Given the description of an element on the screen output the (x, y) to click on. 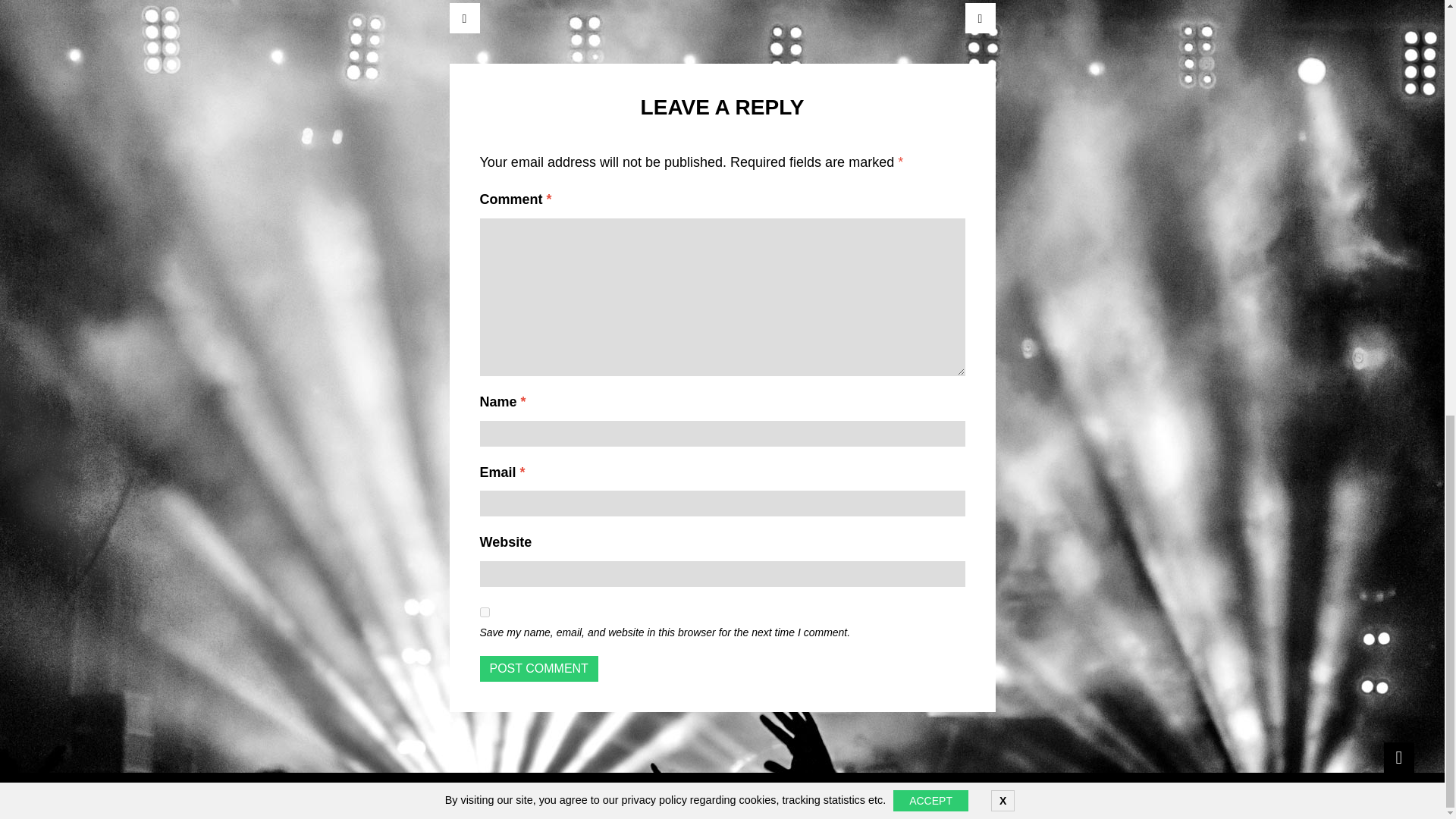
Widgets (1398, 757)
Post Comment (537, 668)
yes (484, 612)
Post Comment (537, 668)
Widgets (1398, 757)
